Given the description of an element on the screen output the (x, y) to click on. 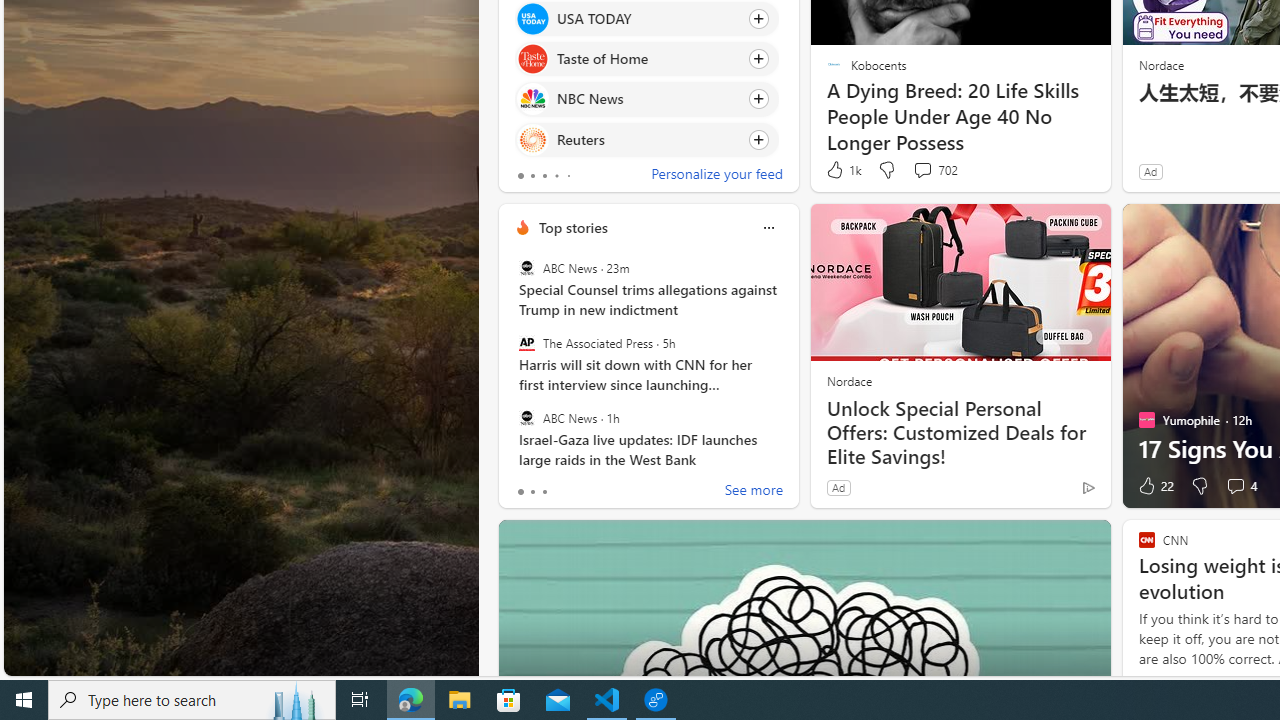
Personalize your feed (716, 175)
Reuters (532, 139)
